Given the description of an element on the screen output the (x, y) to click on. 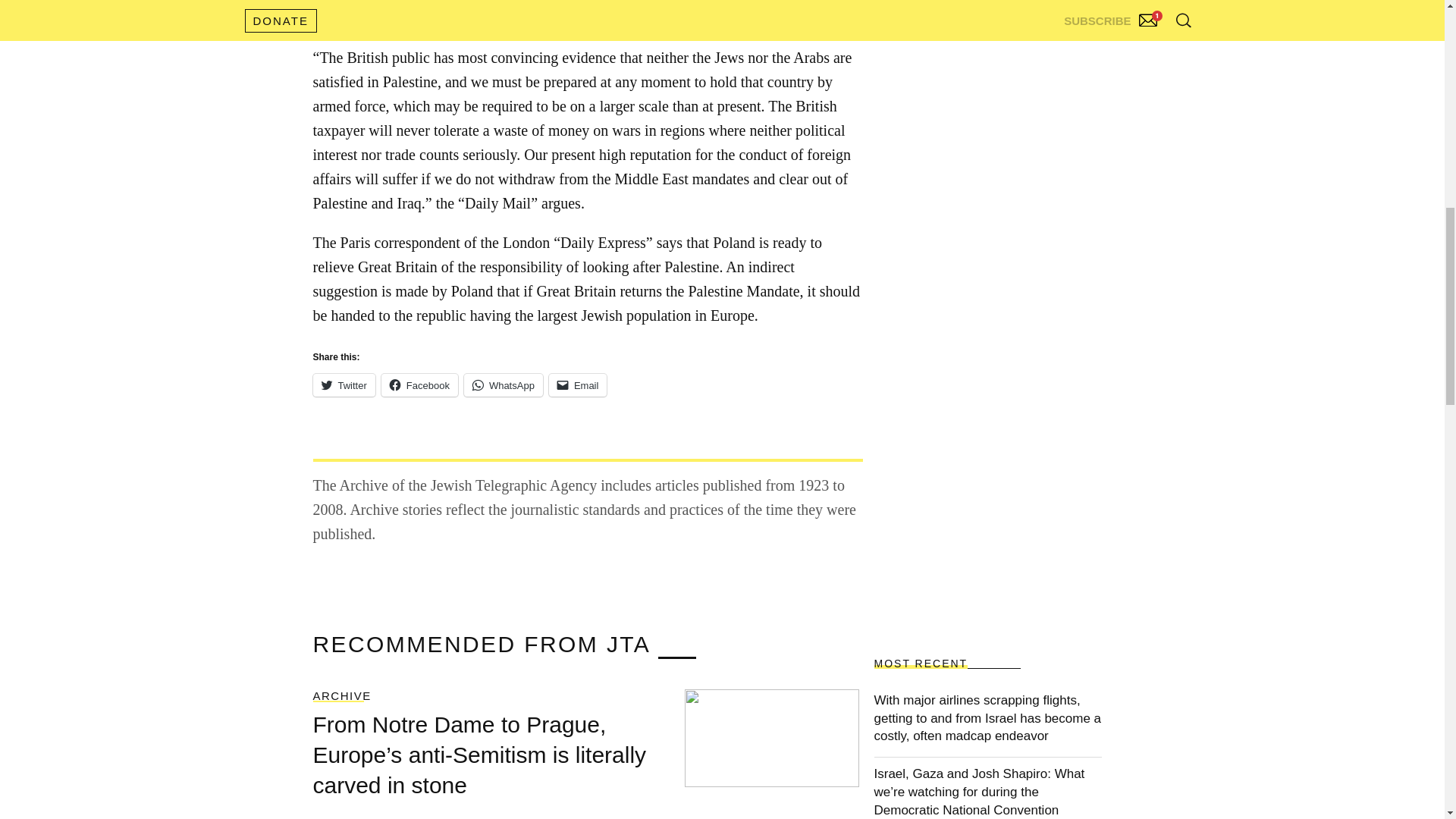
Click to share on Twitter (343, 384)
Click to share on WhatsApp (503, 384)
Click to share on Facebook (419, 384)
Click to email a link to a friend (577, 384)
